Given the description of an element on the screen output the (x, y) to click on. 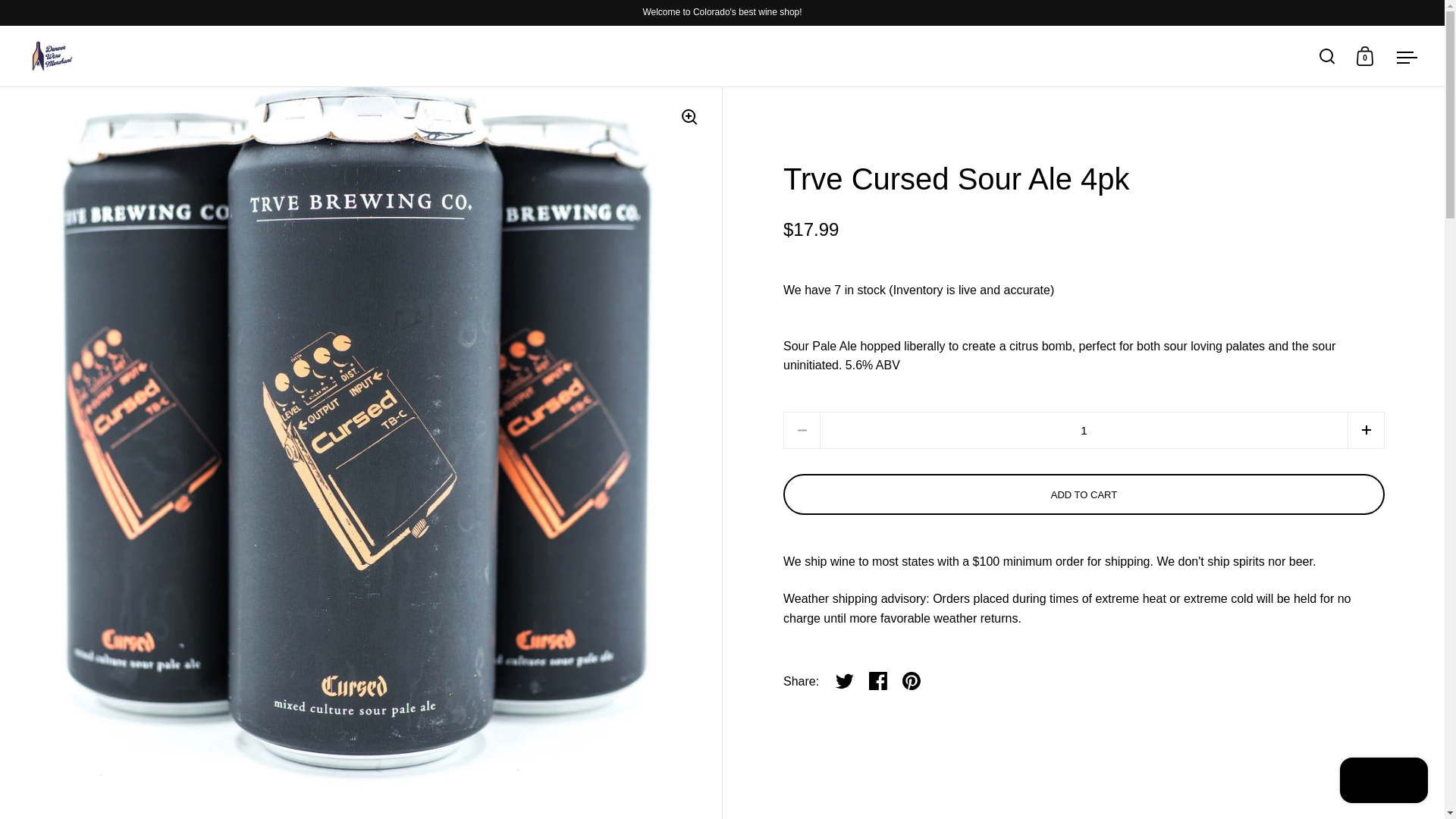
ADD TO CART (1083, 494)
Share on twitter (844, 680)
Open cart (1364, 55)
Open search (1326, 55)
Share on facebook (878, 680)
Share on pinterest (911, 680)
ADD TO CART (1083, 494)
Open menu (1406, 55)
Share on pinterest (911, 680)
Open menu (1406, 55)
